Given the description of an element on the screen output the (x, y) to click on. 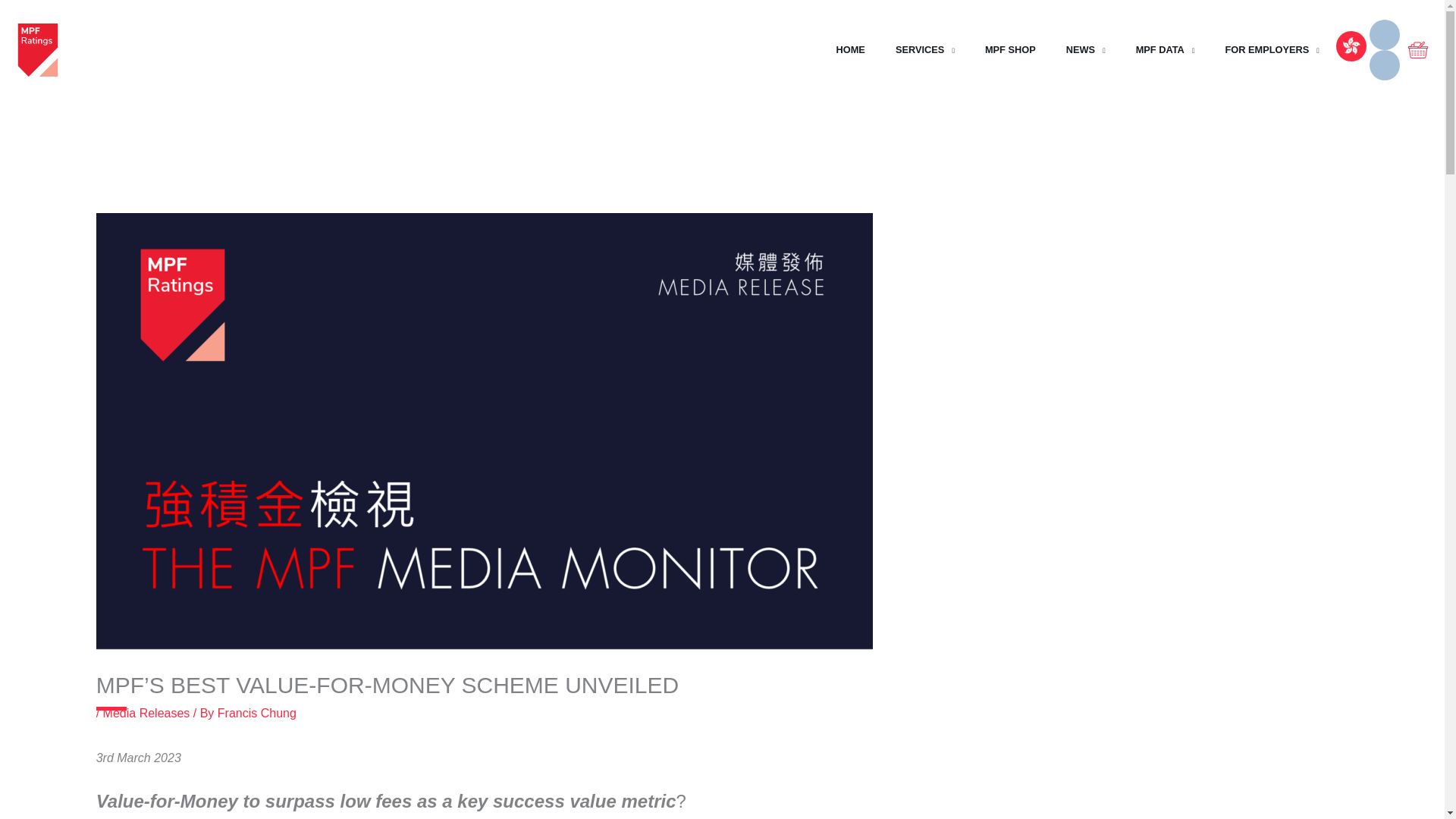
MPF Ratings on X Twitter (1384, 34)
CHECKOUT (1417, 50)
MPF Ratings on Linkedin (1384, 64)
Francis Chung (256, 712)
MPF SHOP (1010, 49)
SERVICES (924, 49)
Media Releases (146, 712)
View all posts by Francis Chung (256, 712)
MPF DATA (1165, 49)
HOME (850, 49)
